Given the description of an element on the screen output the (x, y) to click on. 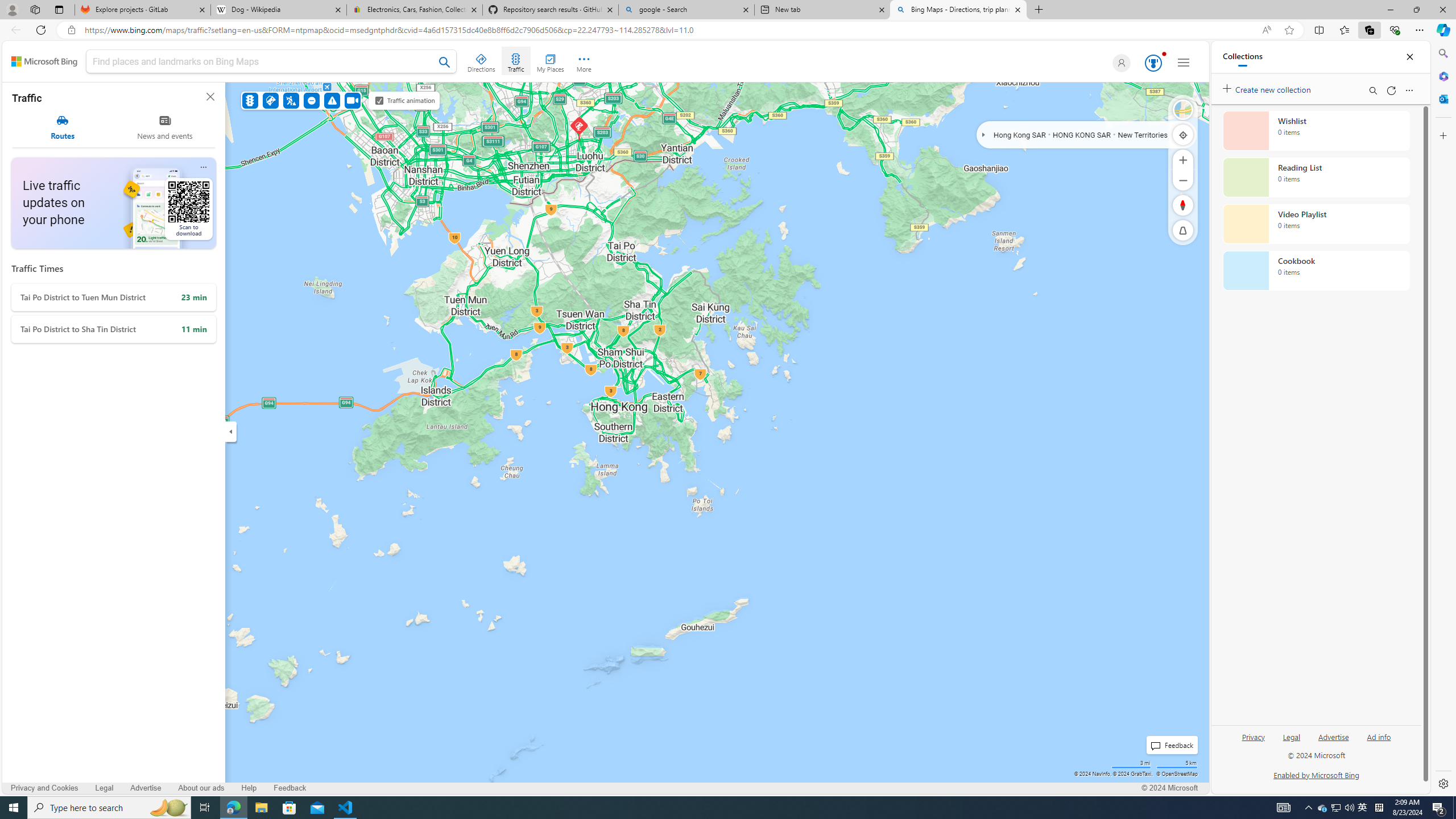
Locate me (1182, 134)
Help (249, 787)
Tai Po District to Sha Tin District (113, 329)
Live traffic updates on your phone Scan to download (113, 202)
Class: inputbox (270, 62)
